Given the description of an element on the screen output the (x, y) to click on. 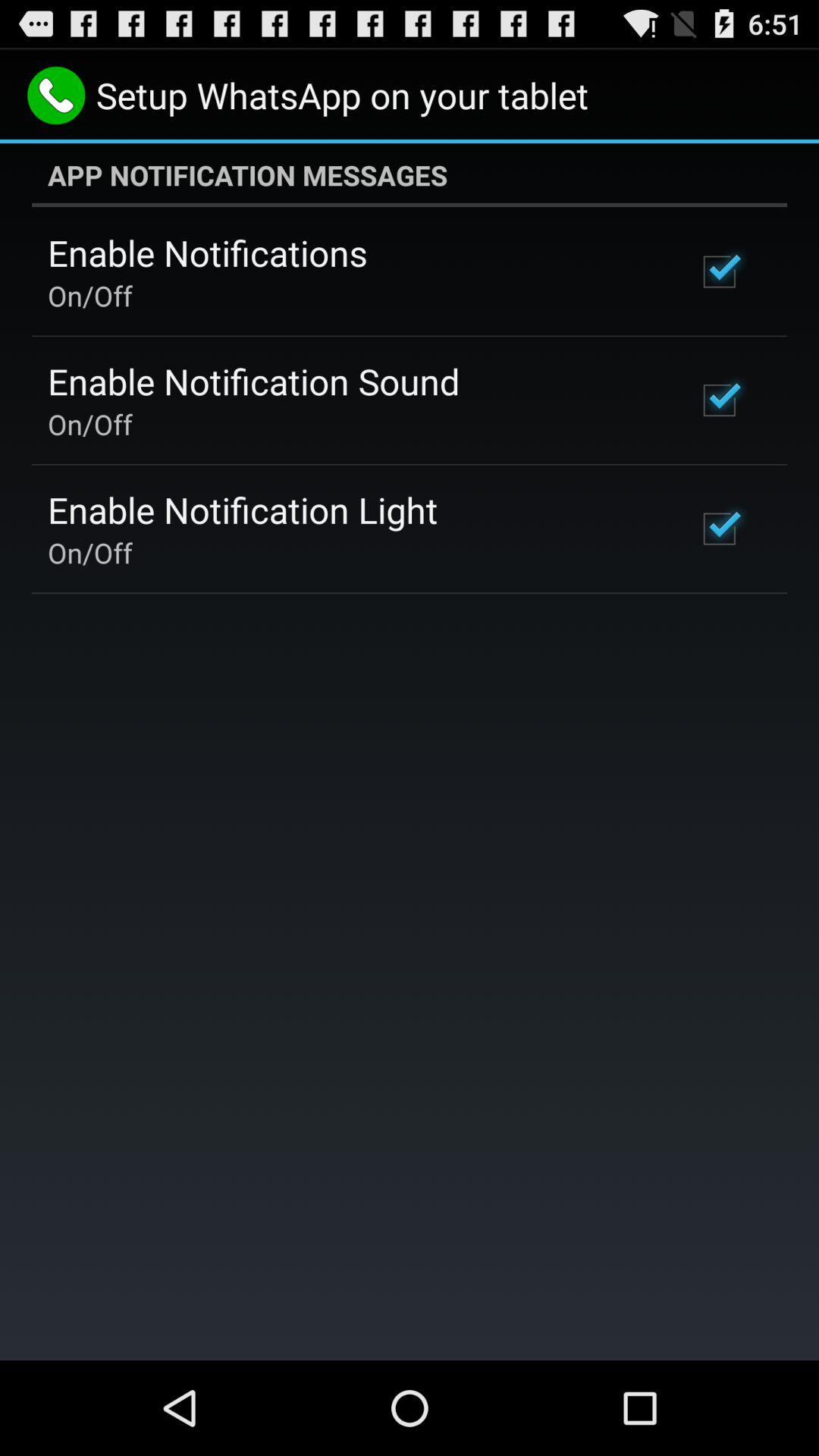
flip to the app notification messages icon (409, 175)
